Given the description of an element on the screen output the (x, y) to click on. 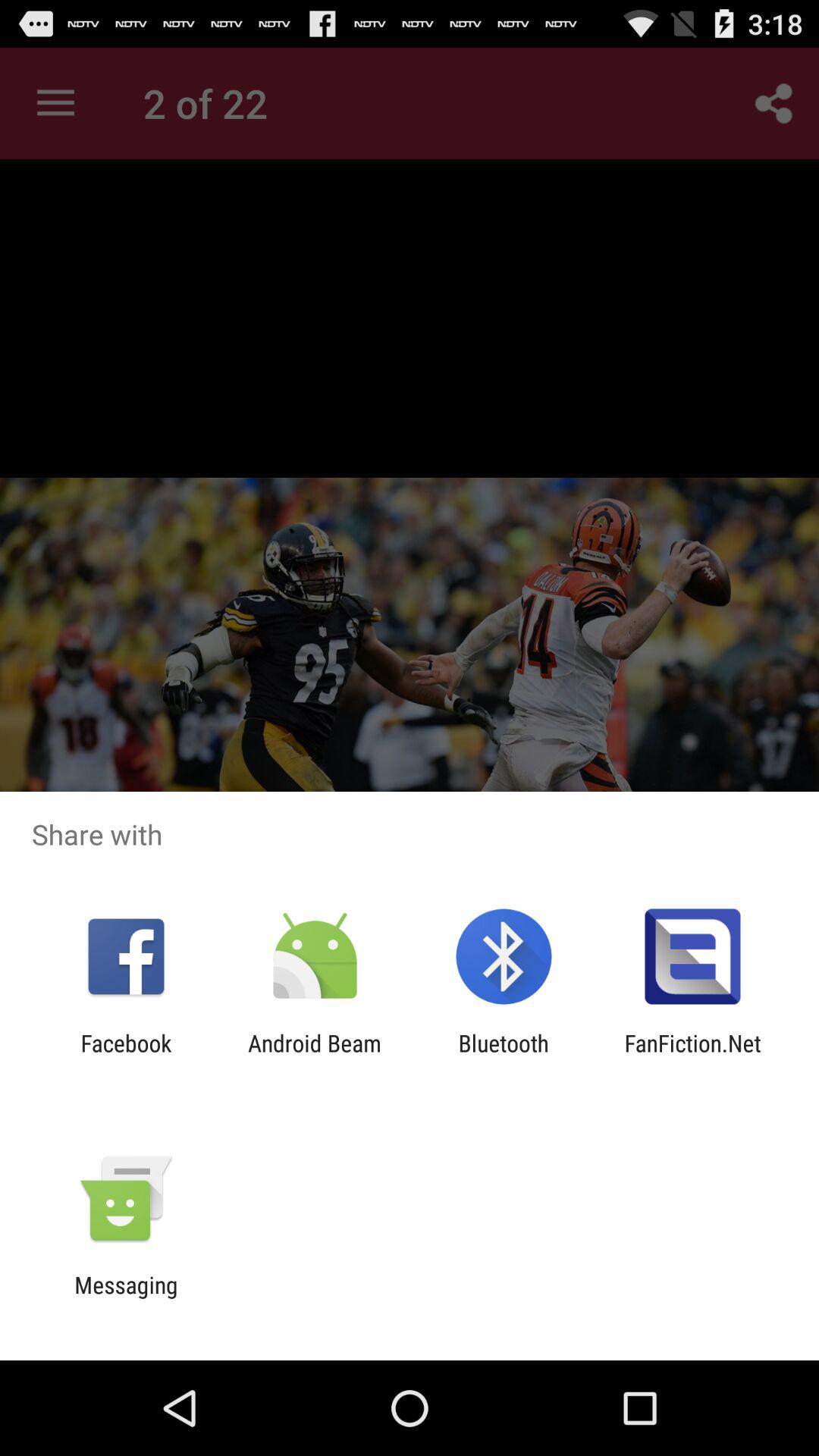
flip until facebook app (125, 1056)
